Given the description of an element on the screen output the (x, y) to click on. 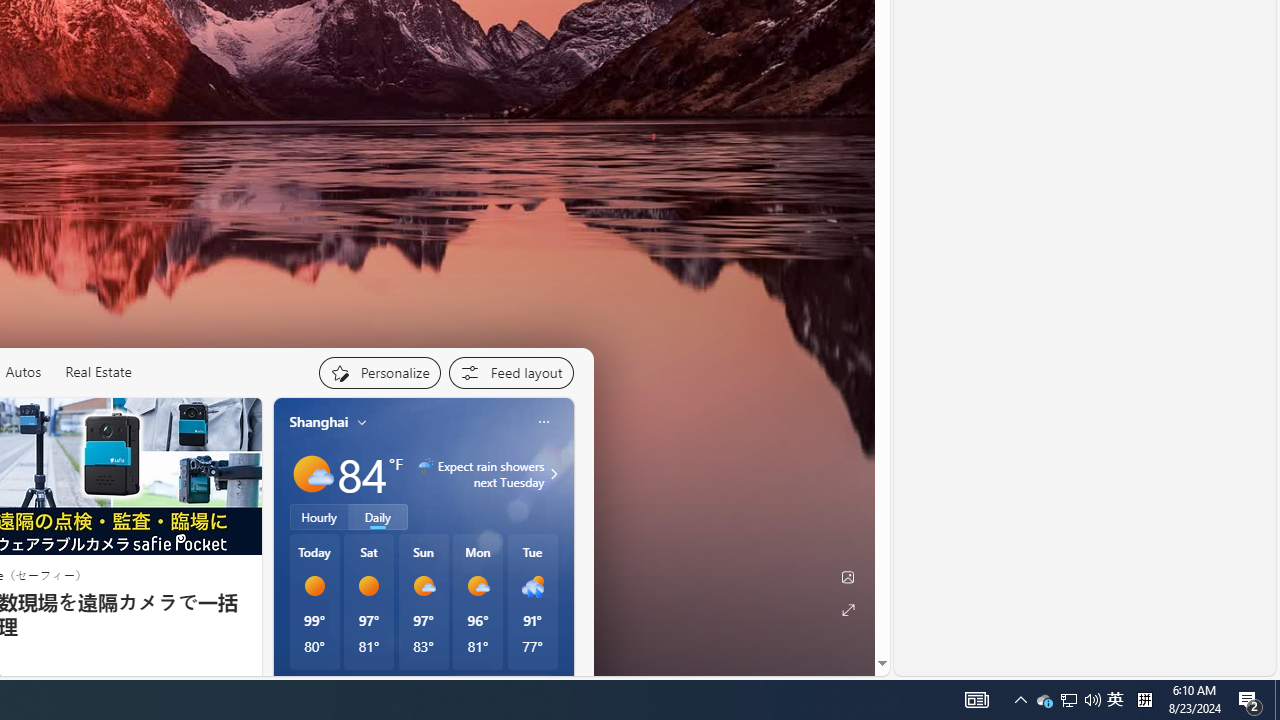
Mostly sunny (477, 585)
Mostly sunny (311, 474)
Edit Background (847, 577)
Feed settings (510, 372)
My location (362, 421)
